Given the description of an element on the screen output the (x, y) to click on. 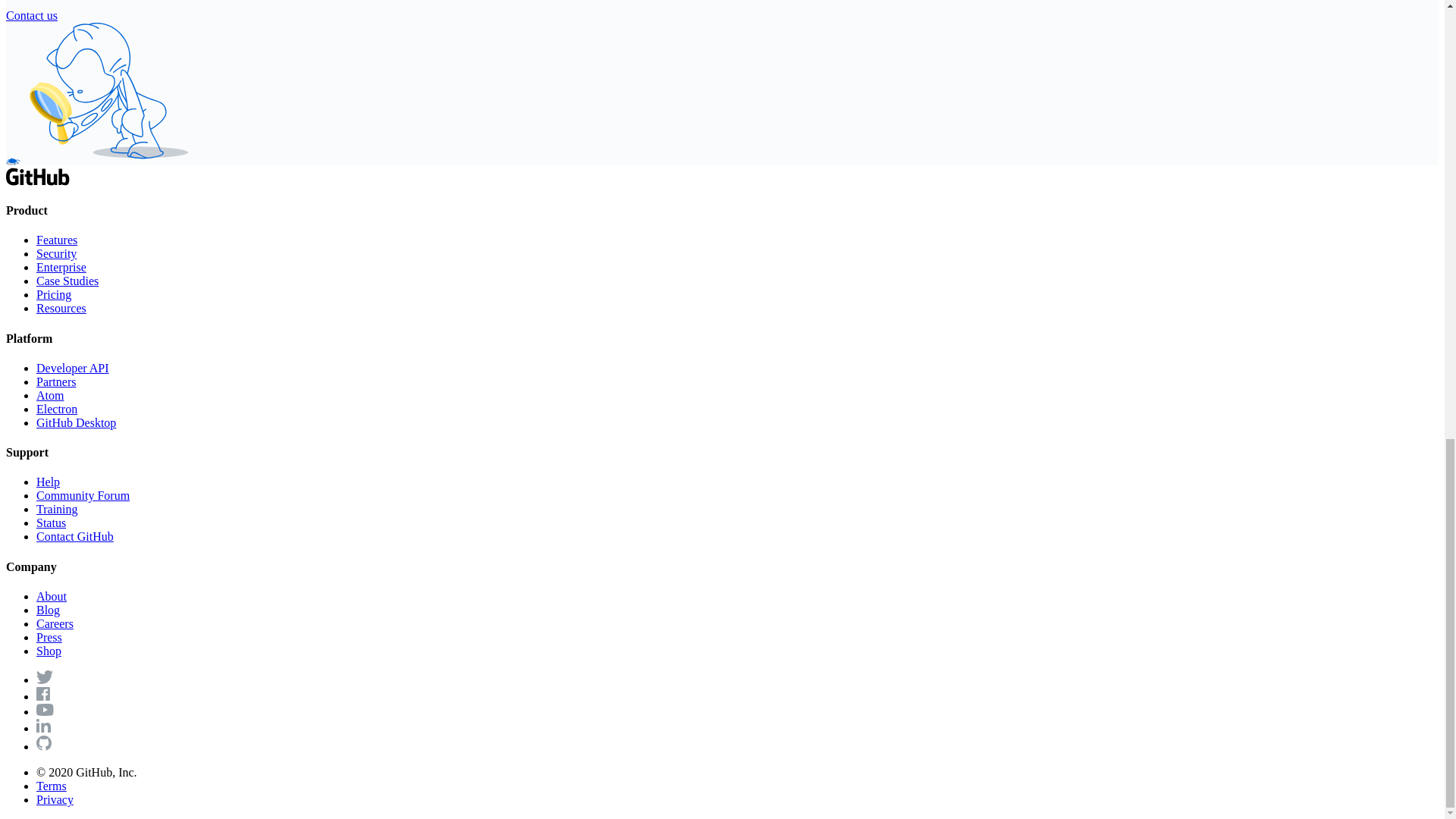
GitHub on YouTube (44, 711)
GitHub on Linkedin (43, 727)
GitHub on Twitter (44, 679)
Features (56, 239)
Security (56, 253)
GitHub's organization (43, 746)
GitHub on Facebook (42, 696)
Contact us (31, 15)
